Given the description of an element on the screen output the (x, y) to click on. 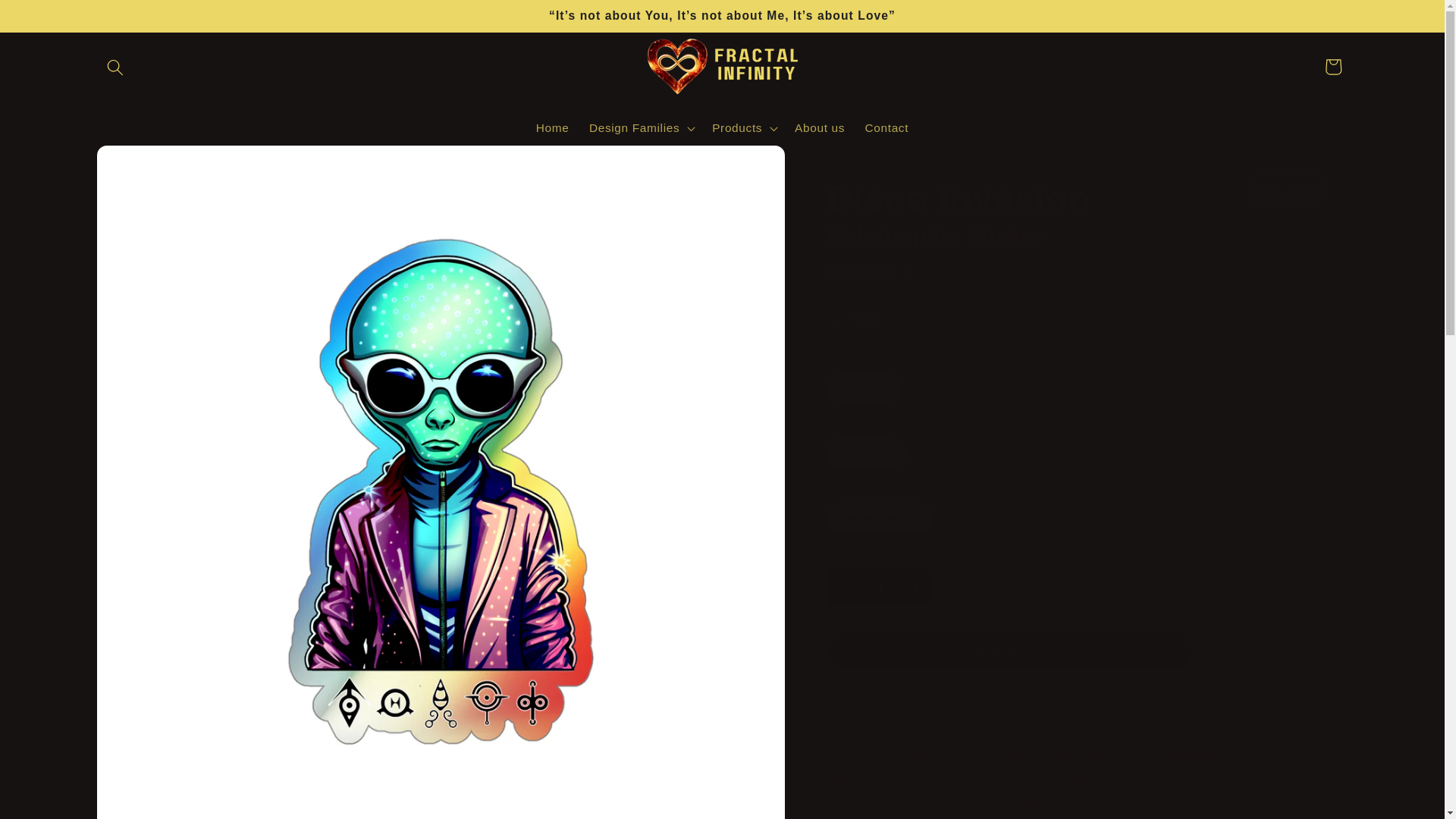
1 (880, 587)
Home (552, 127)
Skip to content (52, 21)
